Given the description of an element on the screen output the (x, y) to click on. 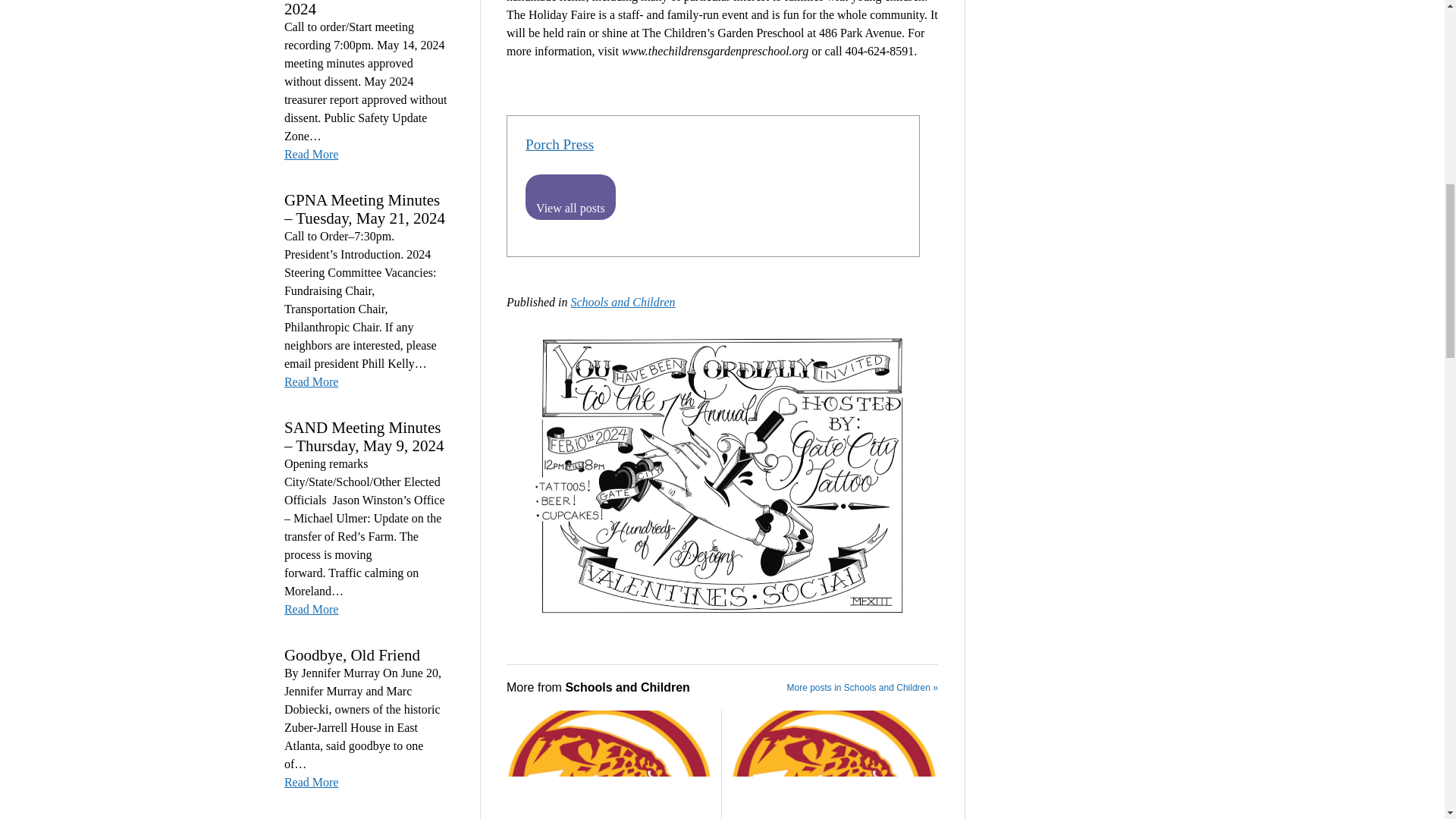
Porch Press (559, 144)
Read More (311, 382)
Read More (311, 782)
View all posts in Schools and Children (622, 301)
Read More (311, 154)
Read More (311, 609)
View all posts (570, 197)
